Given the description of an element on the screen output the (x, y) to click on. 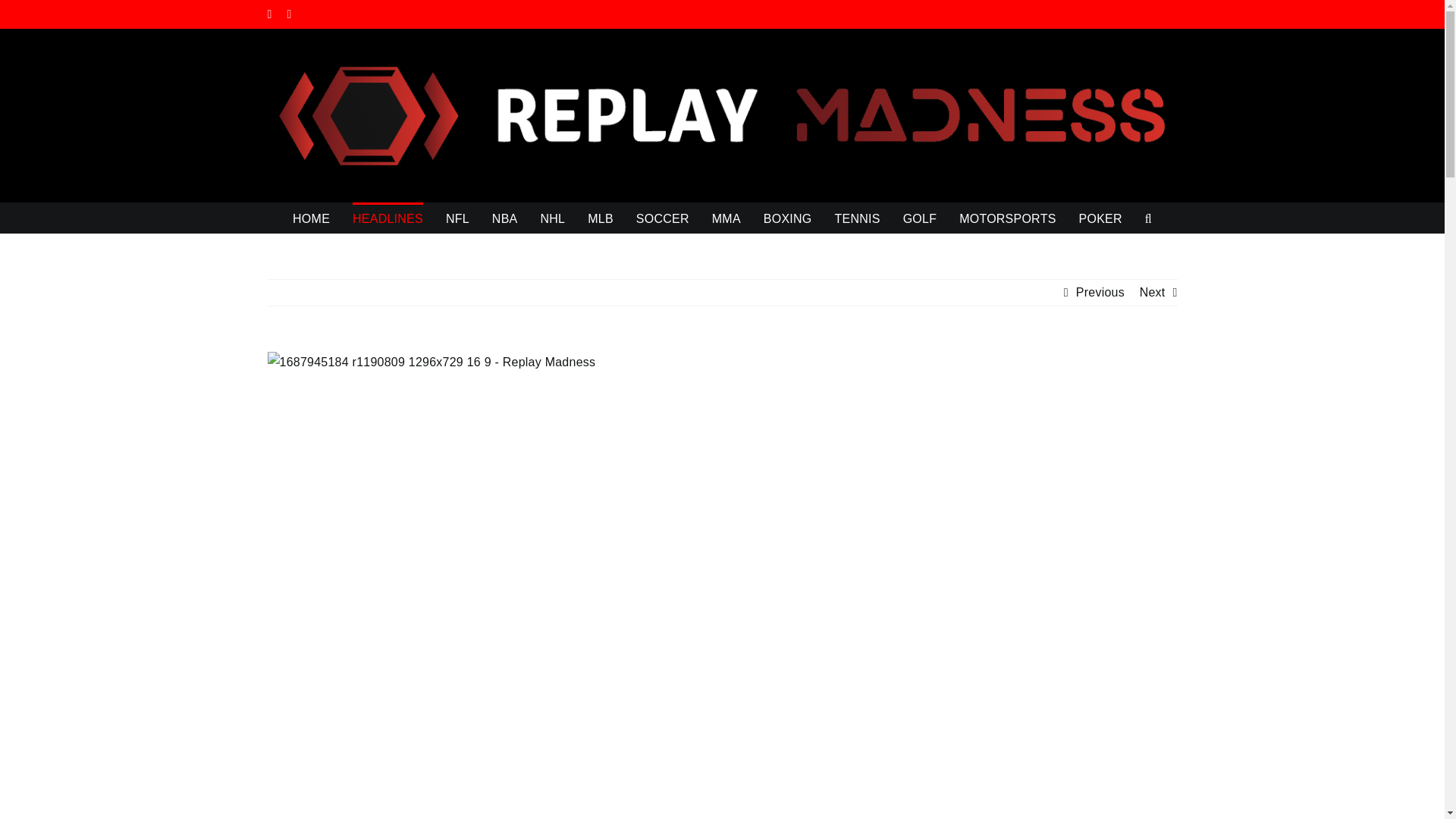
TENNIS (856, 217)
HOME (311, 217)
HEADLINES (387, 217)
MOTORSPORTS (1007, 217)
GOLF (919, 217)
Pinterest (289, 14)
Previous (1099, 292)
BOXING (787, 217)
MLB (600, 217)
POKER (1100, 217)
Search (1147, 217)
NBA (505, 217)
X (268, 14)
Next (1153, 292)
MMA (726, 217)
